Given the description of an element on the screen output the (x, y) to click on. 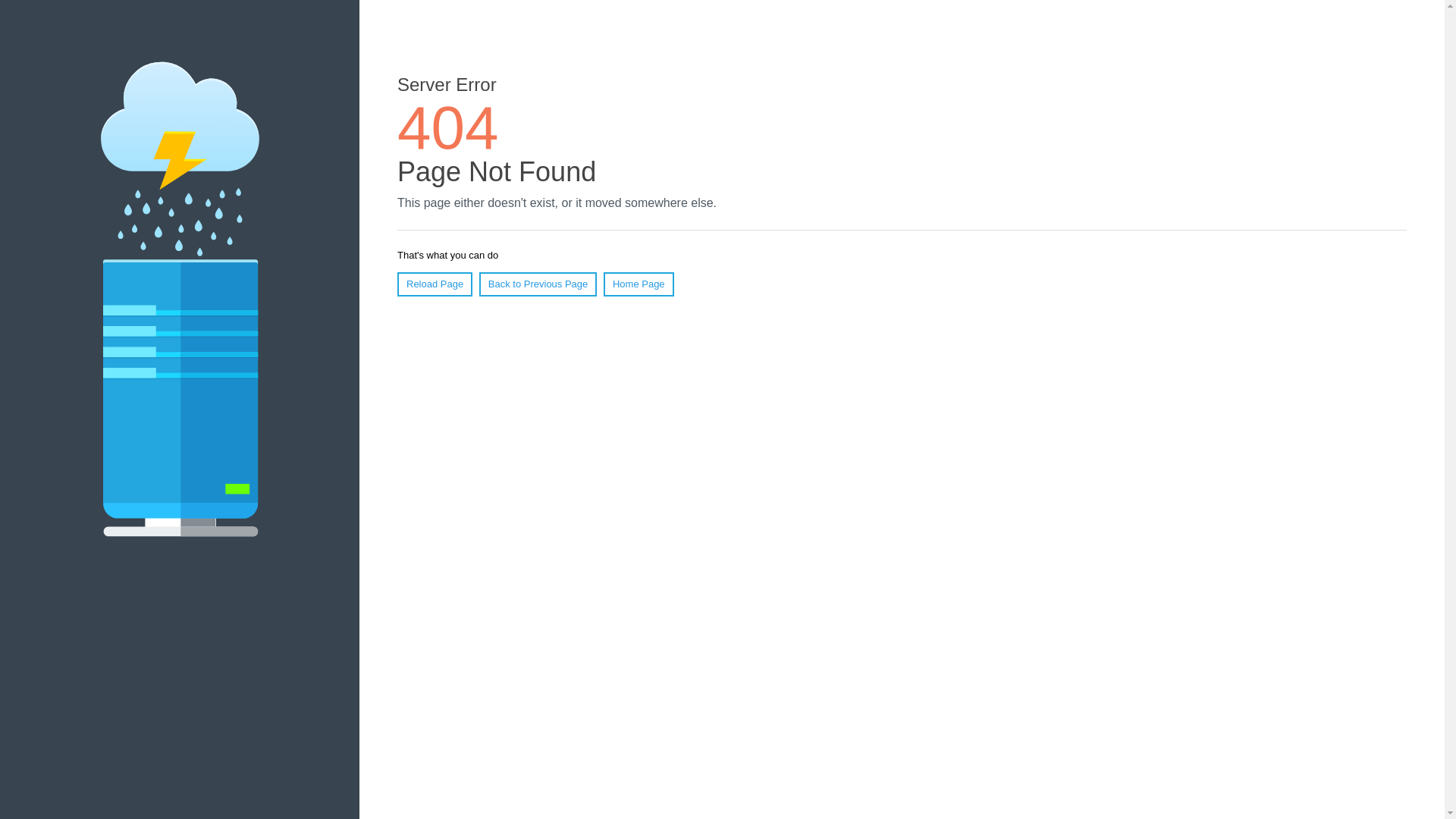
Back to Previous Page Element type: text (538, 284)
Reload Page Element type: text (434, 284)
Home Page Element type: text (638, 284)
